Given the description of an element on the screen output the (x, y) to click on. 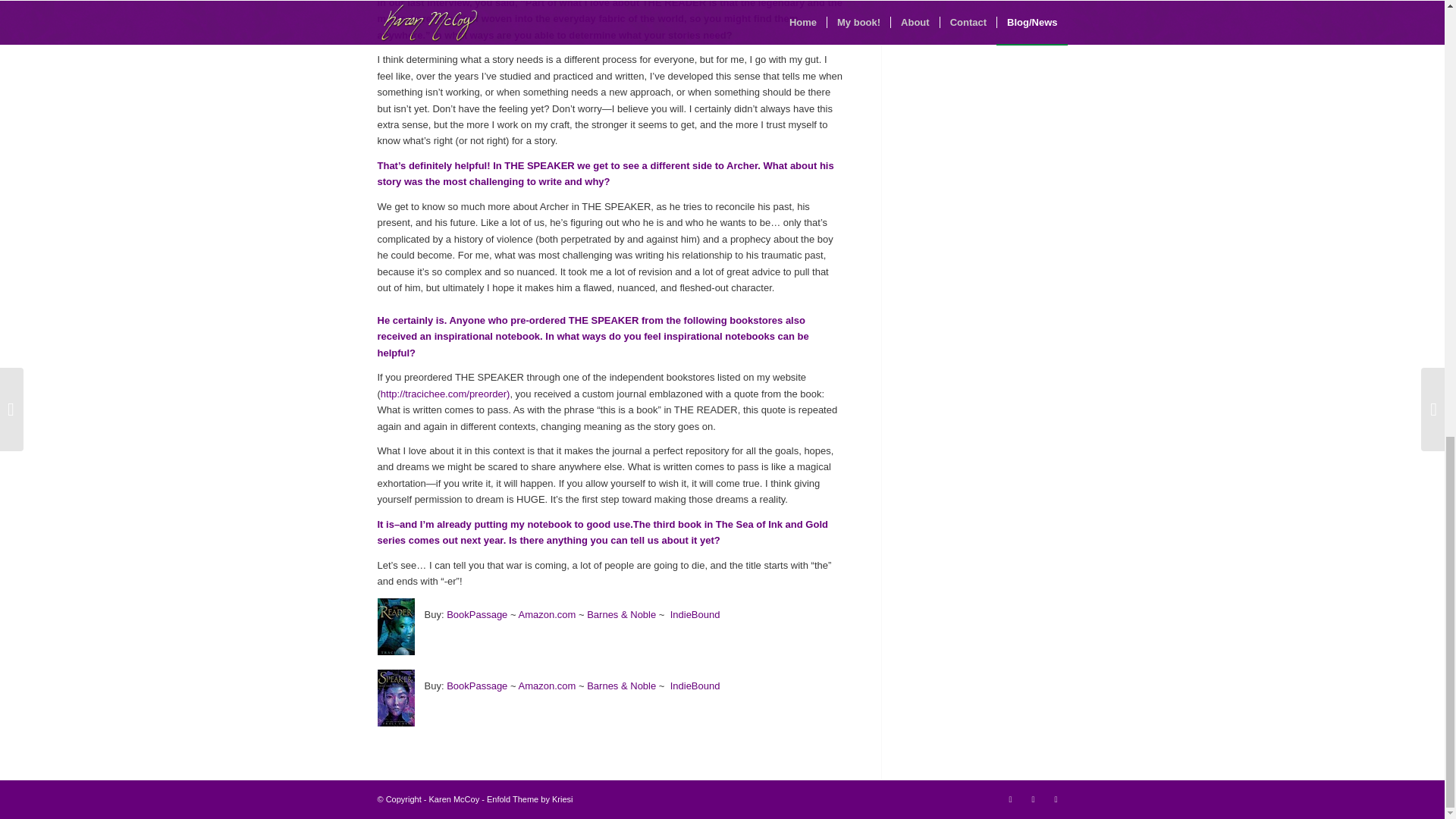
Amazon.com  (548, 614)
Karen McCoy (454, 798)
BookPassage (476, 685)
from the following bookstores (714, 319)
BookPassage (476, 614)
Enfold Theme by Kriesi (529, 798)
Twitter (1033, 798)
IndieBound (694, 614)
Instagram (1010, 798)
IndieBound (694, 685)
Amazon.com  (548, 685)
Facebook (1056, 798)
